Given the description of an element on the screen output the (x, y) to click on. 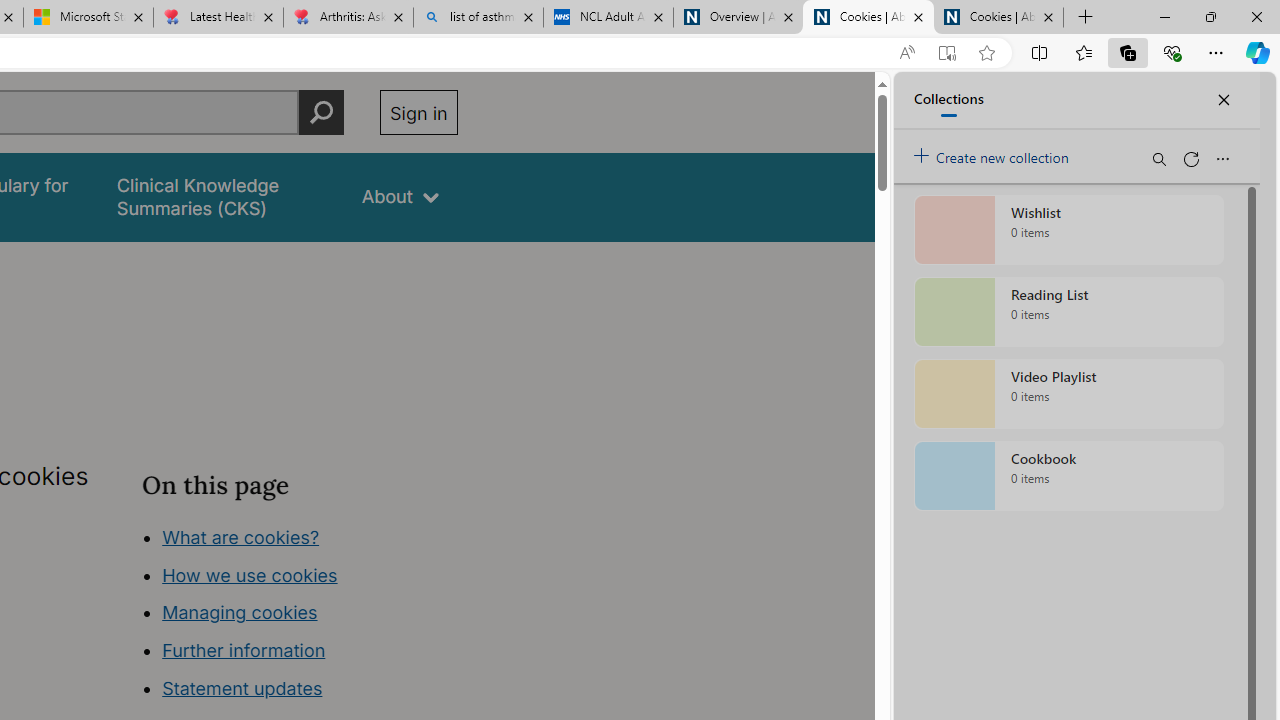
Perform search (321, 112)
Further information (244, 650)
How we use cookies (249, 574)
Class: in-page-nav__list (299, 615)
What are cookies? (241, 536)
